Given the description of an element on the screen output the (x, y) to click on. 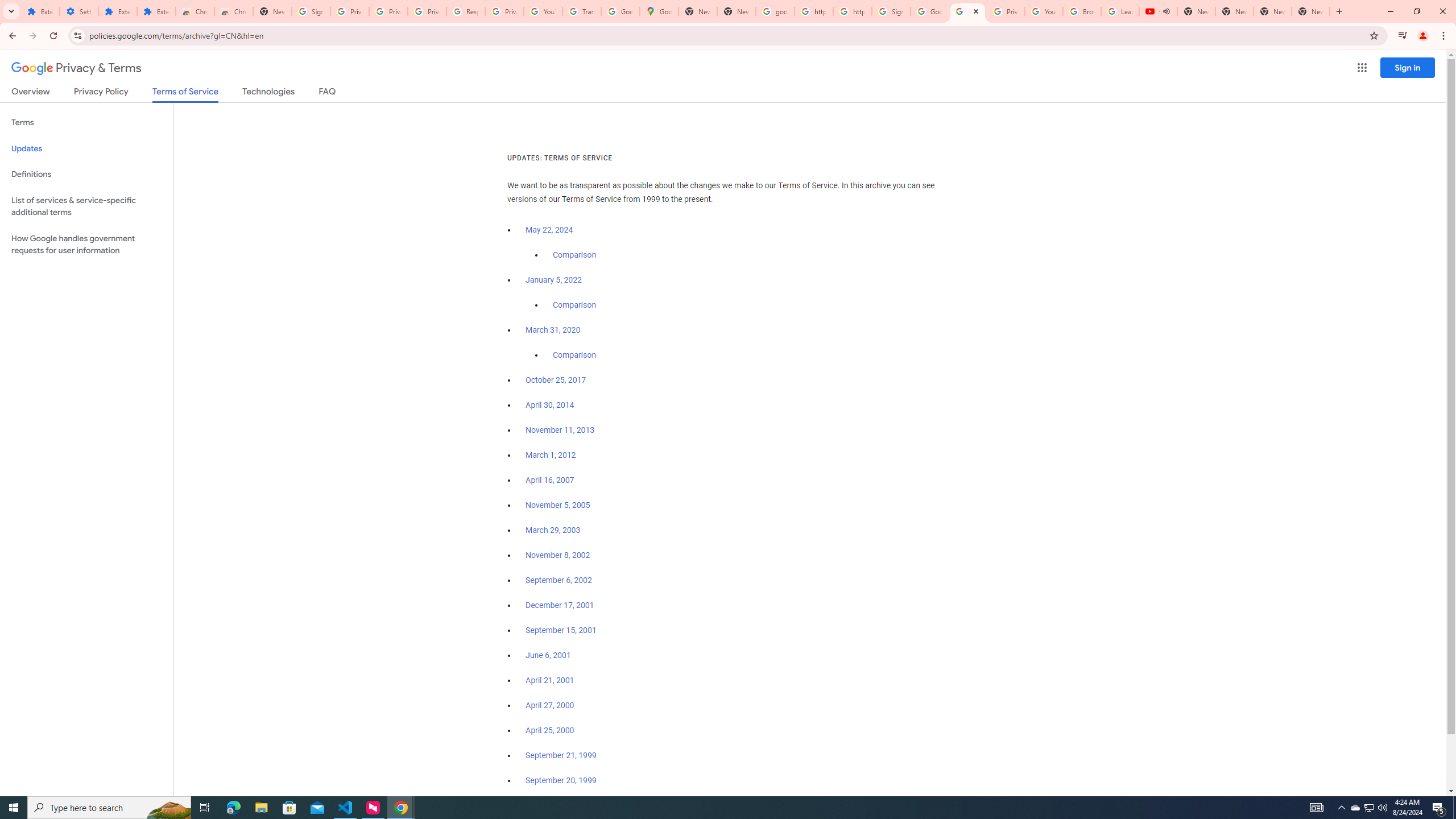
Comparison (574, 355)
September 20, 1999 (560, 780)
List of services & service-specific additional terms (86, 206)
November 8, 2002 (557, 555)
November 11, 2013 (560, 430)
January 5, 2022 (553, 280)
Chrome Web Store - Themes (233, 11)
https://scholar.google.com/ (813, 11)
December 17, 2001 (559, 605)
YouTube (542, 11)
